Given the description of an element on the screen output the (x, y) to click on. 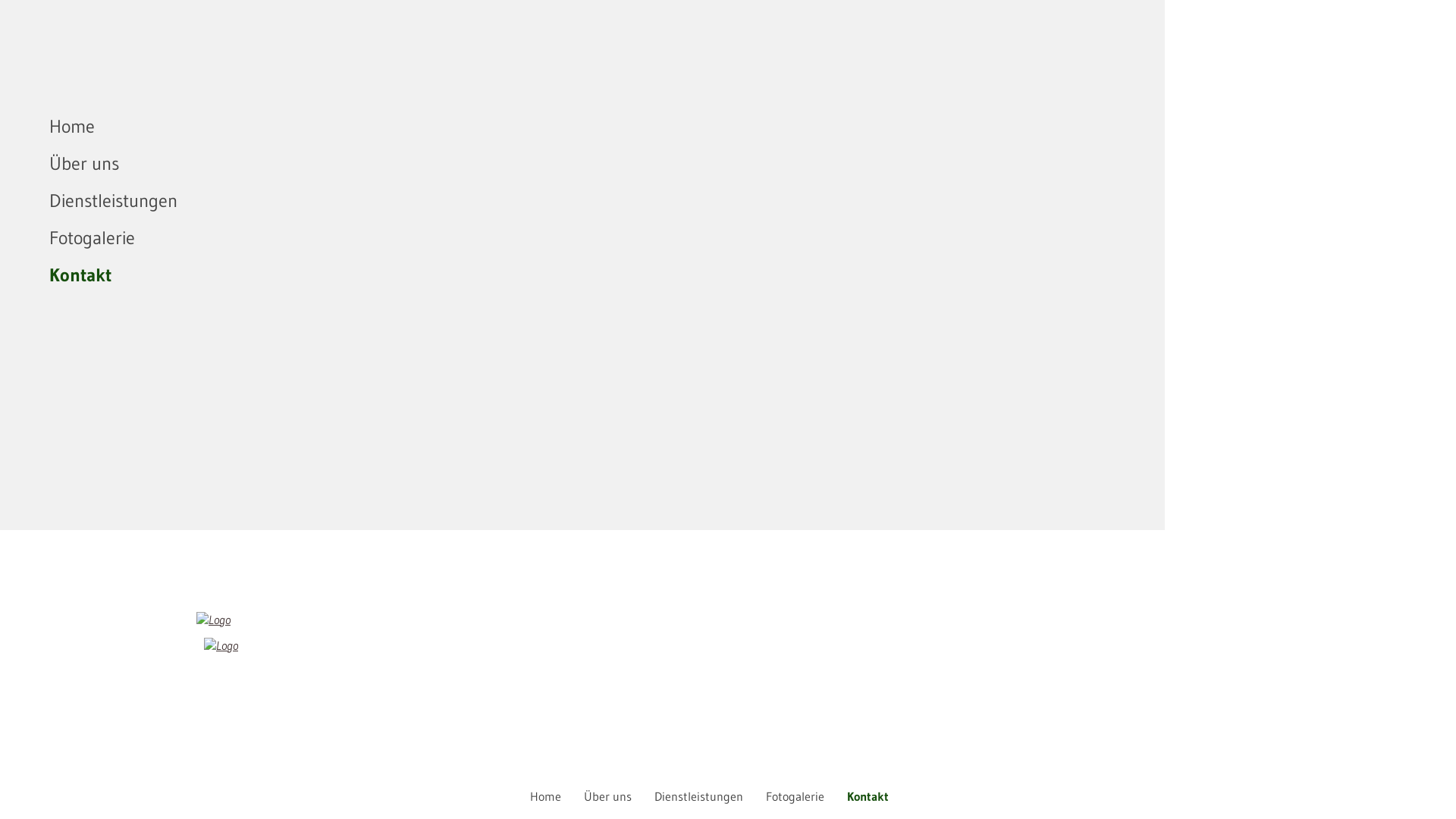
Dienstleistungen Element type: text (698, 795)
Kontakt Element type: text (867, 795)
Dienstleistungen Element type: text (473, 200)
Fotogalerie Element type: text (794, 795)
Home Element type: text (545, 795)
Home Element type: text (473, 125)
Fotogalerie Element type: text (473, 237)
Kontakt Element type: text (473, 274)
